Given the description of an element on the screen output the (x, y) to click on. 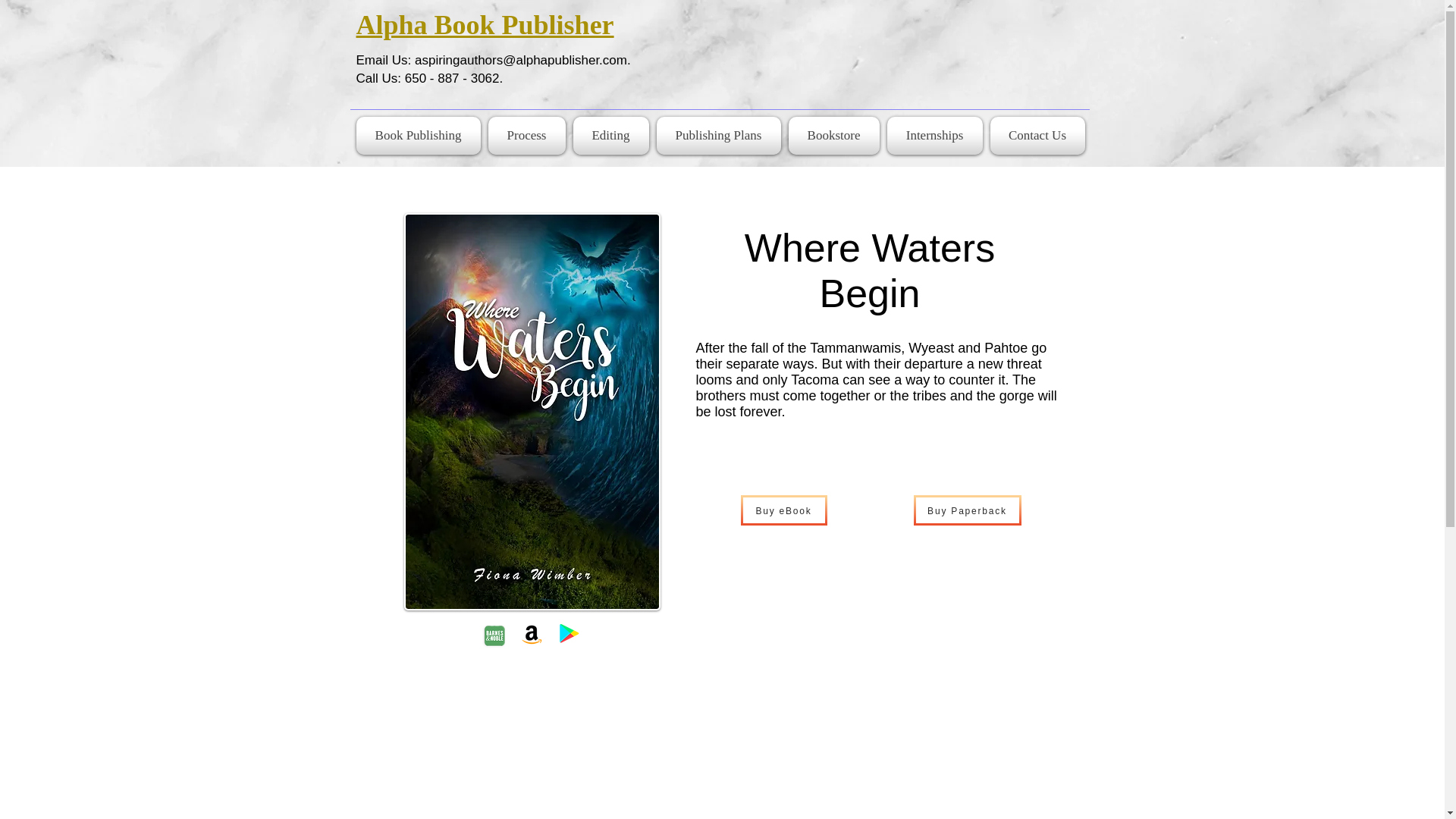
Book Publishing (420, 135)
Process (526, 135)
Contact Us (1034, 135)
Internships (933, 135)
Bookstore (833, 135)
Buy Paperback (966, 510)
Alpha Book Publisher (485, 24)
Buy eBook (783, 510)
Publishing Plans (718, 135)
Editing (610, 135)
